Given the description of an element on the screen output the (x, y) to click on. 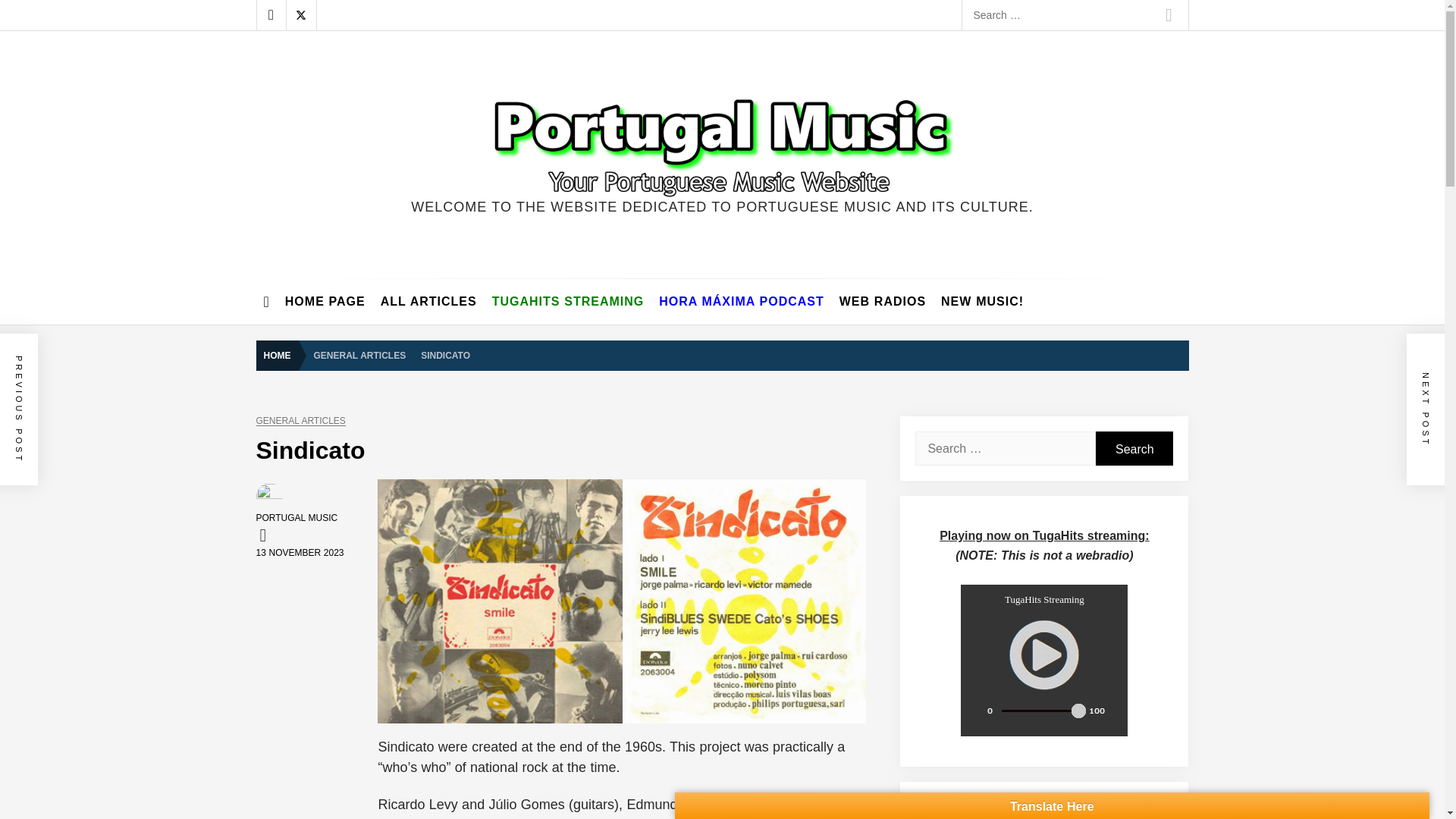
PORTUGAL MUSIC (296, 517)
TUGAHITS STREAMING (568, 301)
NEW MUSIC! (981, 301)
ALL ARTICLES (428, 301)
Search (1169, 15)
Search (1169, 15)
GENERAL ARTICLES (301, 420)
Search (1169, 15)
Search (1134, 448)
Search (1134, 448)
GENERAL ARTICLES (359, 354)
HOME PAGE (325, 301)
WEB RADIOS (882, 301)
SINDICATO (445, 354)
HOME (280, 355)
